Given the description of an element on the screen output the (x, y) to click on. 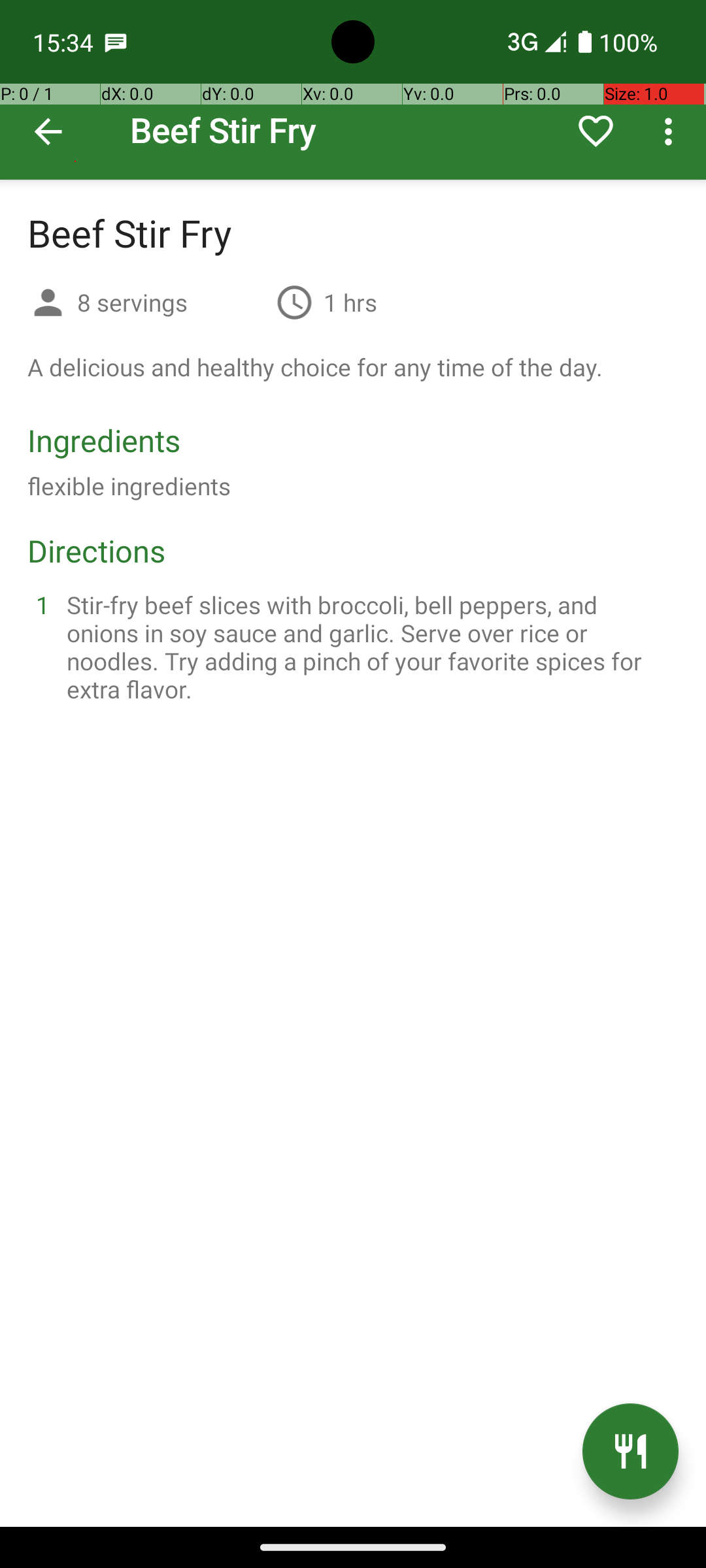
flexible ingredients Element type: android.widget.TextView (128, 485)
Stir-fry beef slices with broccoli, bell peppers, and onions in soy sauce and garlic. Serve over rice or noodles. Try adding a pinch of your favorite spices for extra flavor. Element type: android.widget.TextView (368, 646)
